Given the description of an element on the screen output the (x, y) to click on. 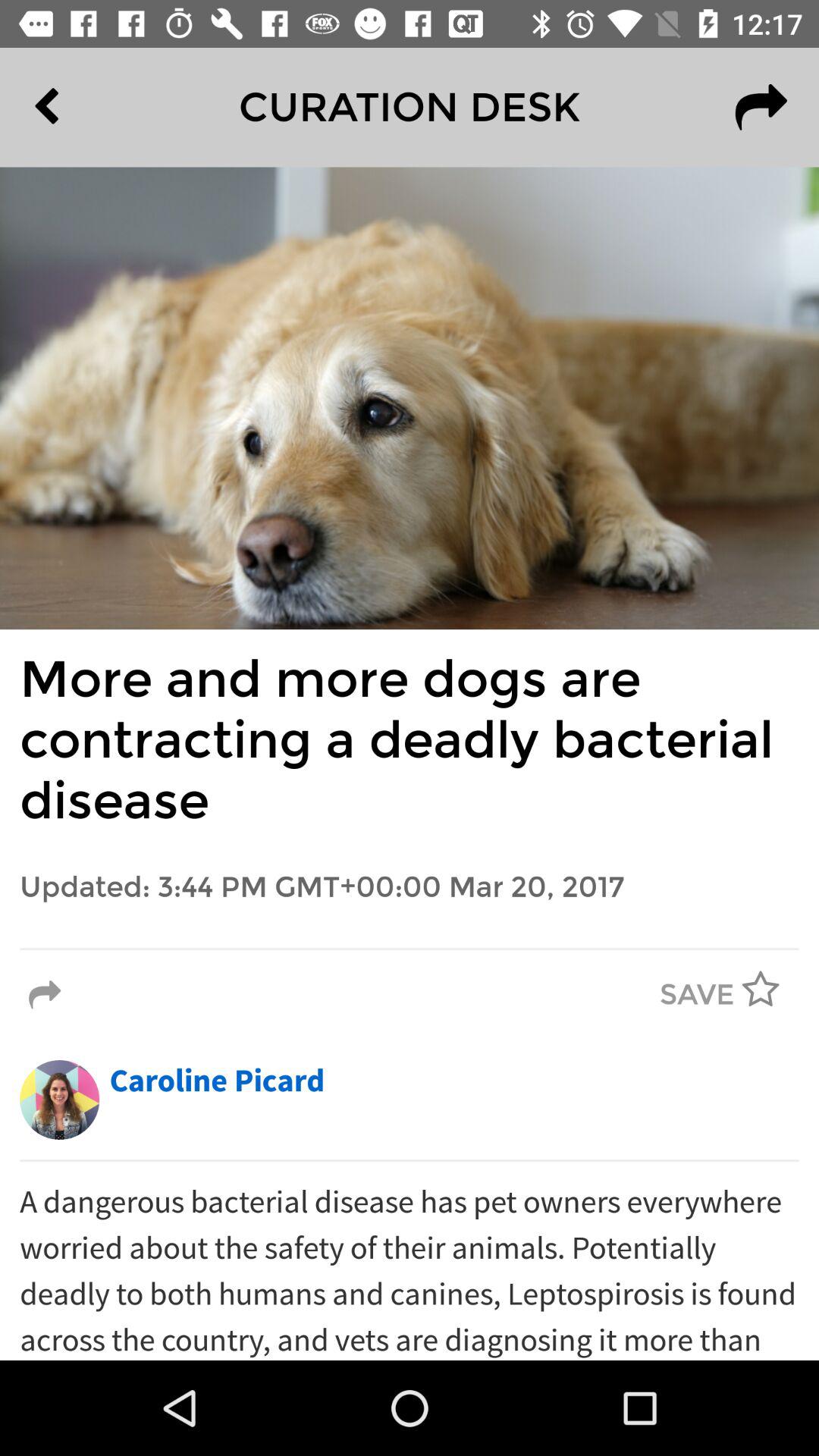
click the icon to the left of the save icon (44, 995)
